Given the description of an element on the screen output the (x, y) to click on. 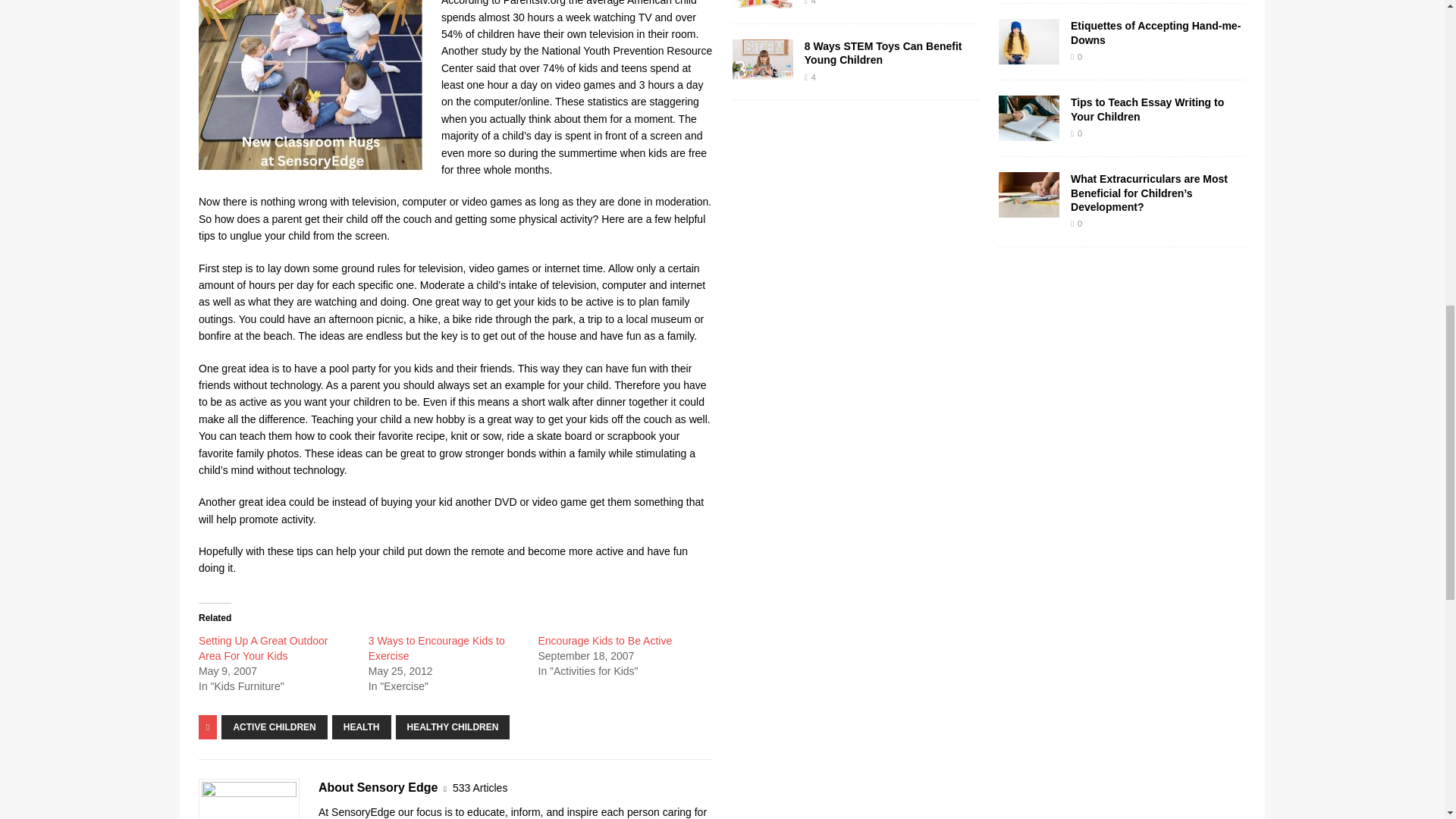
3 Ways to Encourage Kids to Exercise (436, 647)
Encourage Kids to Be Active (605, 640)
Setting Up A Great Outdoor Area For Your Kids (262, 647)
